Given the description of an element on the screen output the (x, y) to click on. 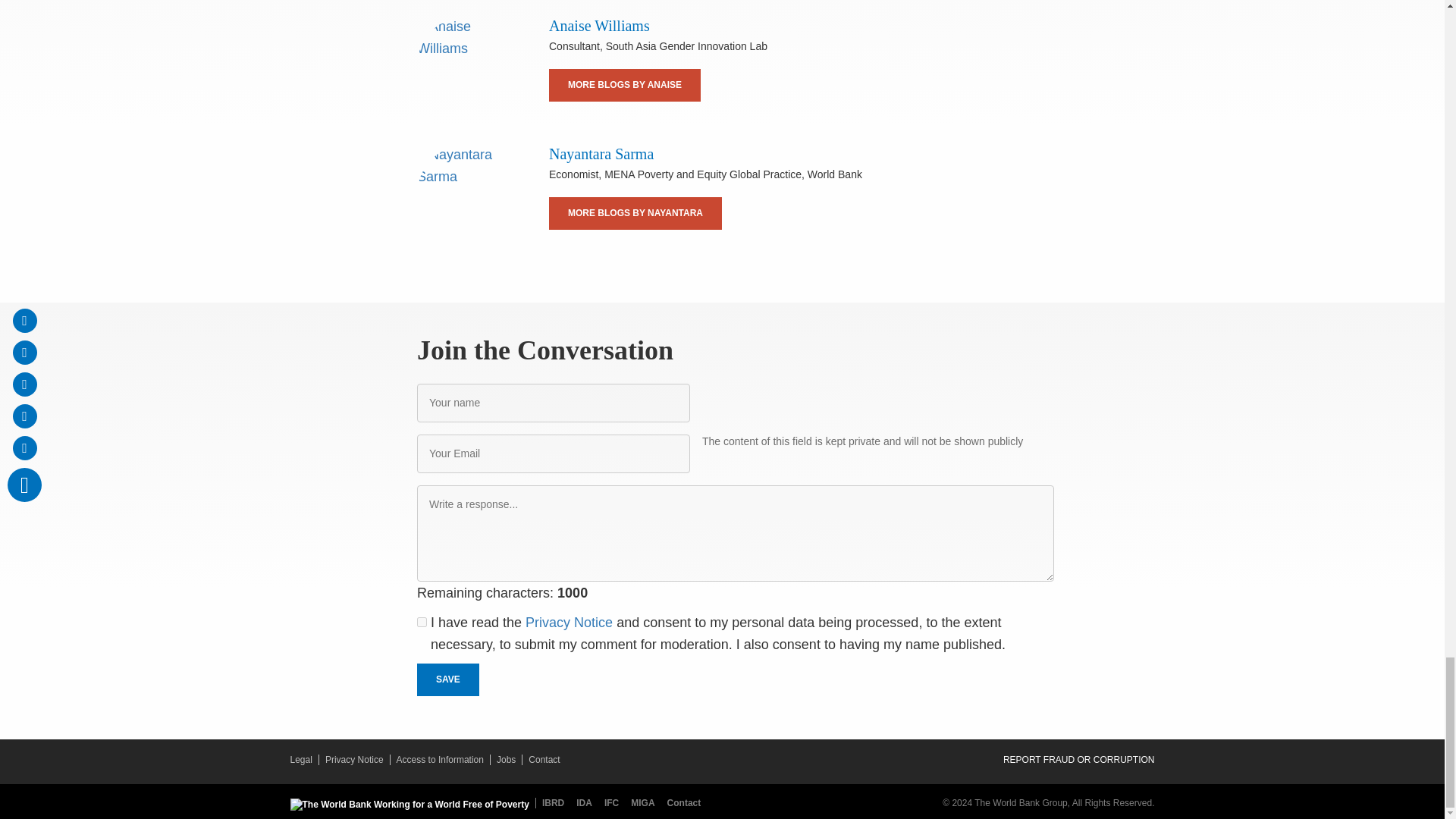
1 (421, 622)
Nayantara Sarma (467, 194)
IFC (614, 801)
Anaise Williams (467, 66)
Anaise Williams (598, 25)
MORE BLOGS BY ANAISE (624, 84)
The World Bank Working for a World Free of Poverty (408, 804)
IDA (587, 801)
MIGA (645, 801)
Your name (553, 403)
